Given the description of an element on the screen output the (x, y) to click on. 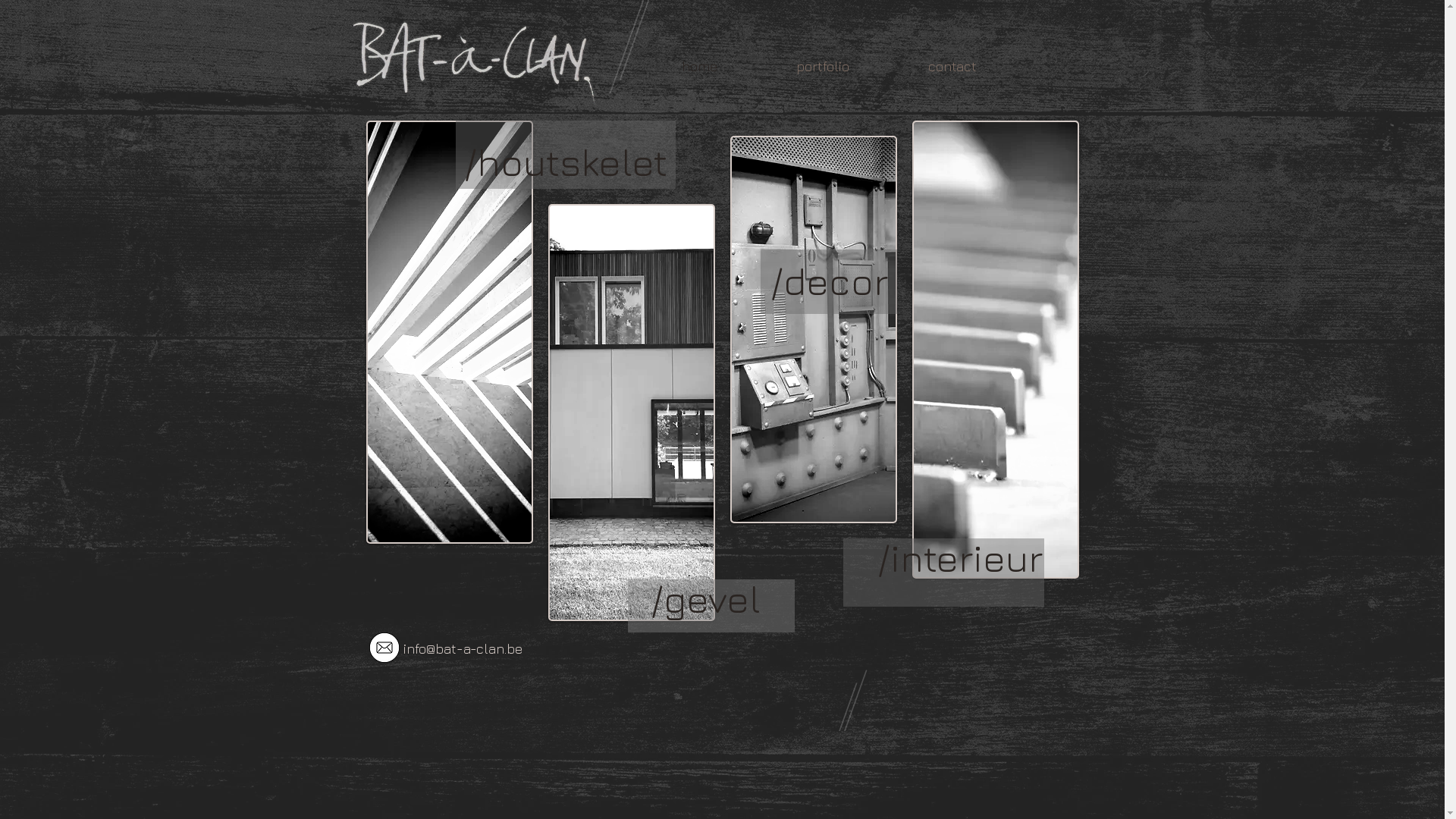
/interieur Element type: text (958, 557)
info@bat-a-clan.be Element type: text (462, 648)
/gevel Element type: text (705, 598)
/houtskelet Element type: text (564, 161)
home Element type: text (698, 66)
contact Element type: text (952, 66)
/decor Element type: text (829, 280)
